Given the description of an element on the screen output the (x, y) to click on. 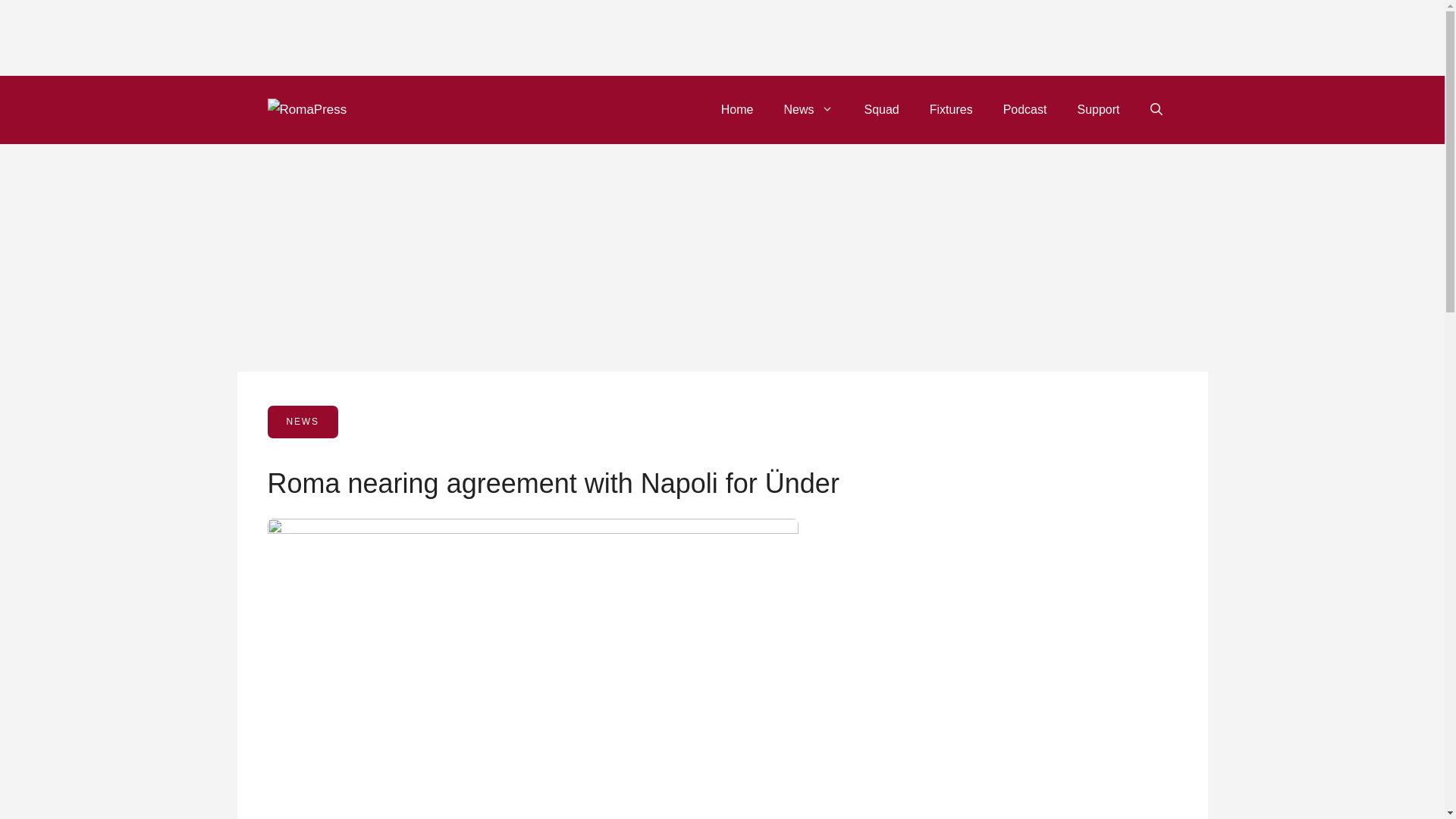
Squad (881, 109)
Home (737, 109)
News (808, 109)
Support (1097, 109)
Fixtures (951, 109)
Podcast (1025, 109)
